Given the description of an element on the screen output the (x, y) to click on. 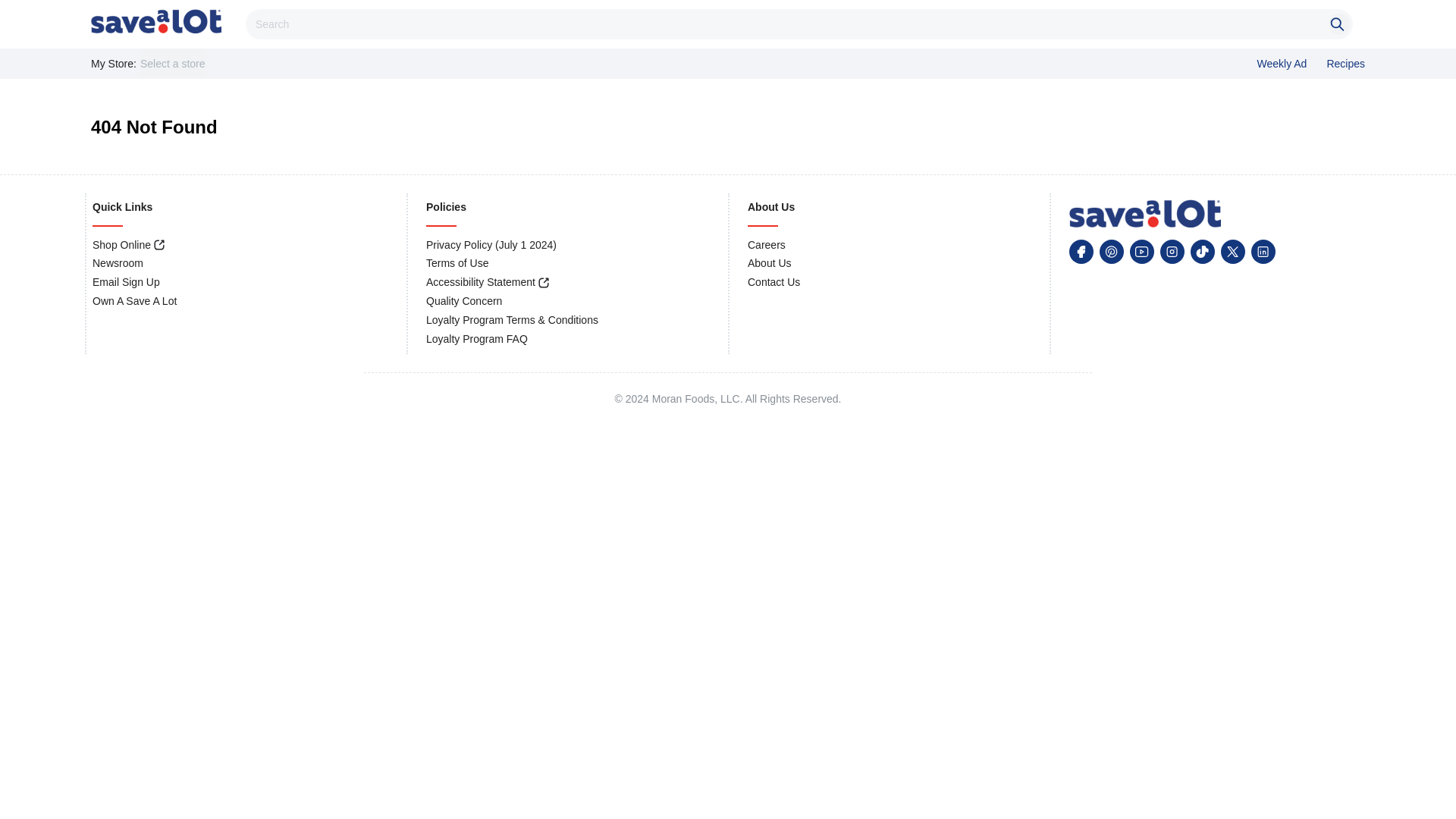
Recipes (1345, 62)
Newsroom (117, 263)
Loyalty Program FAQ (476, 338)
Quality Concern (464, 300)
Terms of Use (456, 263)
Careers (767, 244)
Contact Us (773, 282)
Shop Online (122, 244)
Select a store (172, 62)
About Us (770, 263)
Weekly Ad (1281, 62)
Email Sign Up (126, 282)
Own A Save A Lot (134, 300)
Accessibility Statement (480, 282)
